Given the description of an element on the screen output the (x, y) to click on. 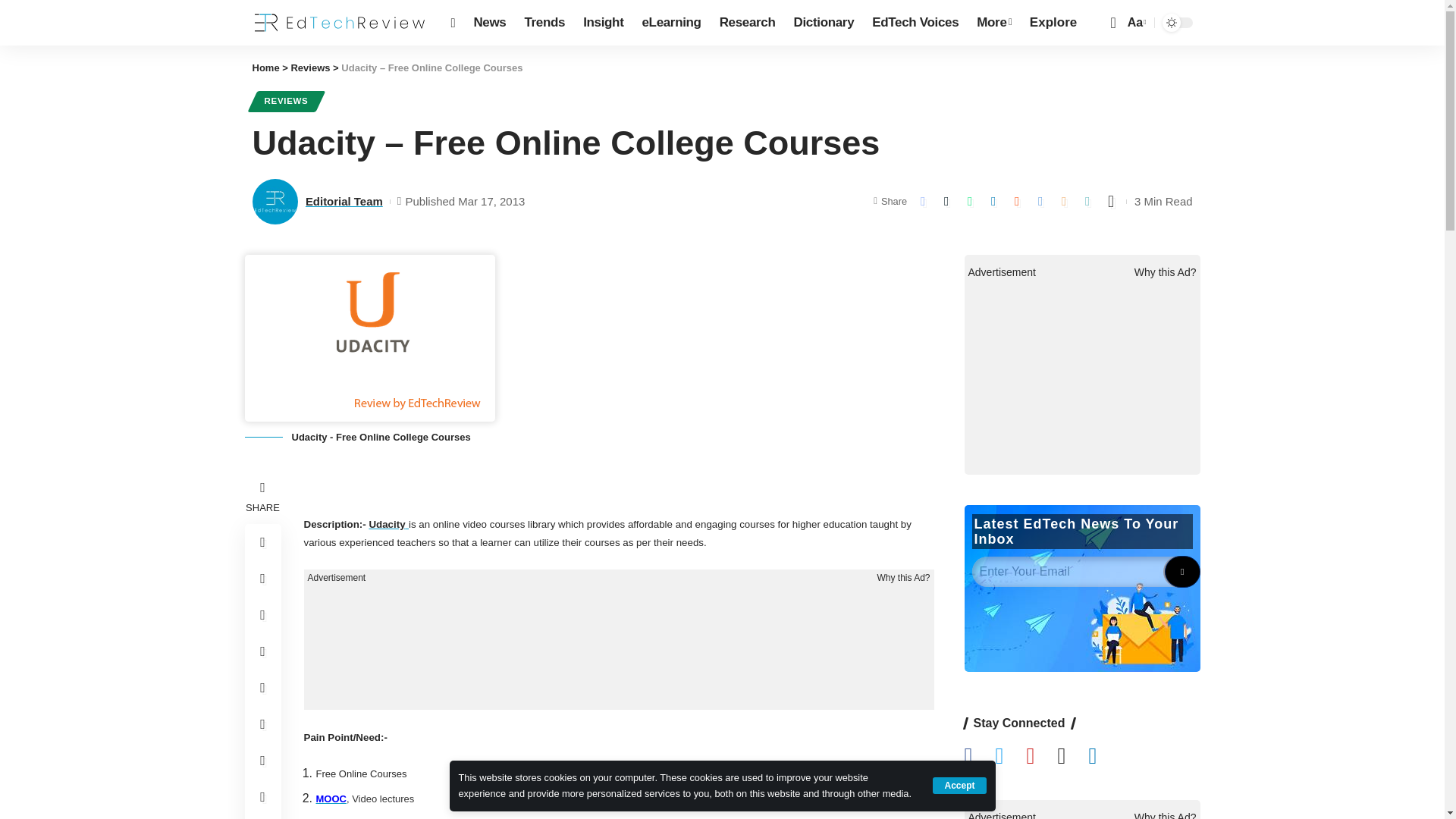
Follow EdTechReview on Instagram (1072, 756)
Follow EdTechReview on LinkedIn (1103, 756)
Go to the Reviews Category archives. (309, 67)
Udacity - Free Online College Courses (369, 337)
EdTechReview (338, 22)
Research (747, 22)
eLearning (670, 22)
Accept (959, 785)
Follow EdTechReview on YouTube (1041, 756)
News (489, 22)
Insight (602, 22)
Trends (544, 22)
Follow EdTechReview on Facebook (979, 756)
Editorial Team Icon 2 (274, 201)
EdTech Voices (915, 22)
